Given the description of an element on the screen output the (x, y) to click on. 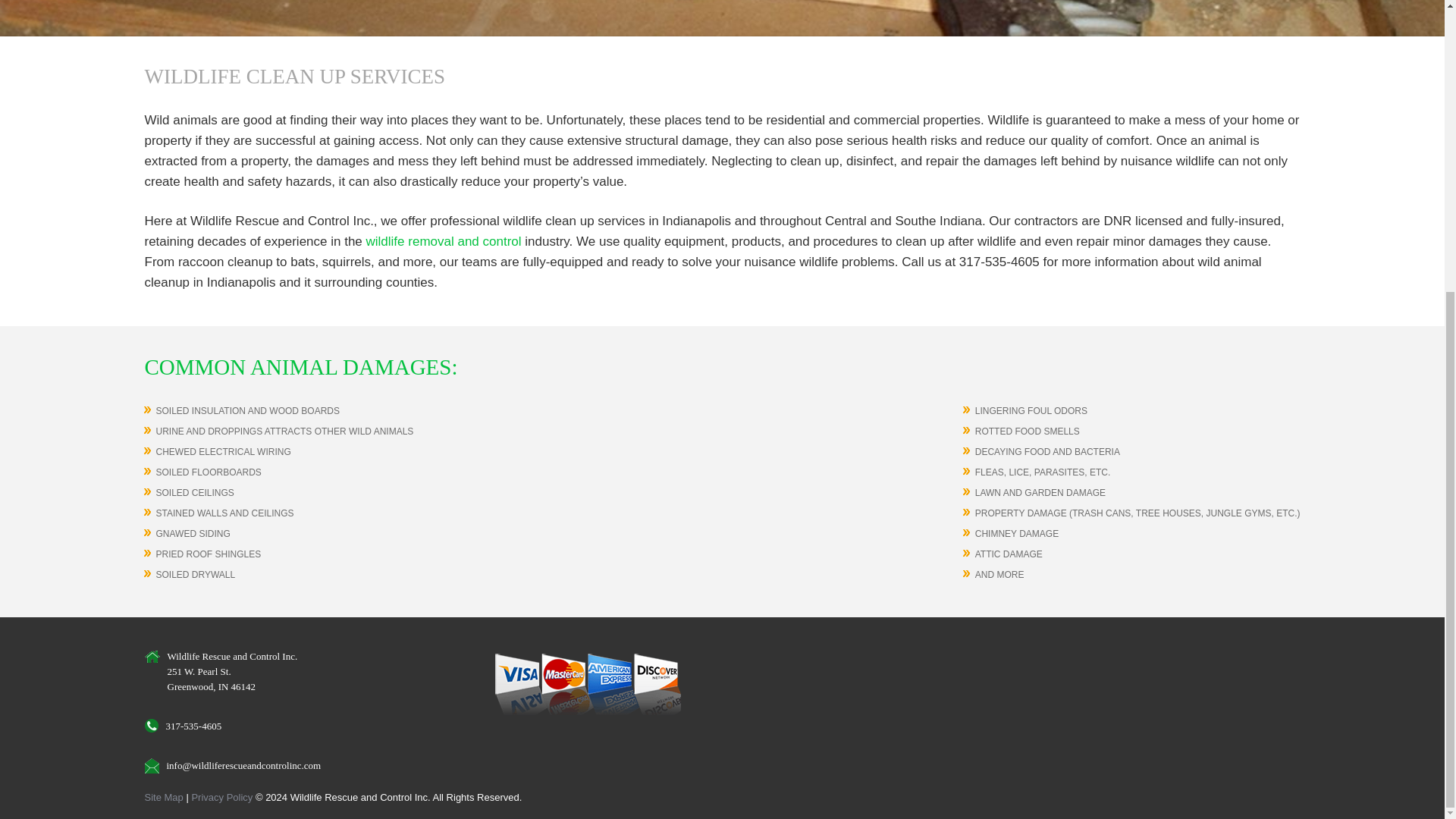
wildlife removal and control (443, 241)
Site Map (163, 797)
Privacy Policy (223, 797)
